Given the description of an element on the screen output the (x, y) to click on. 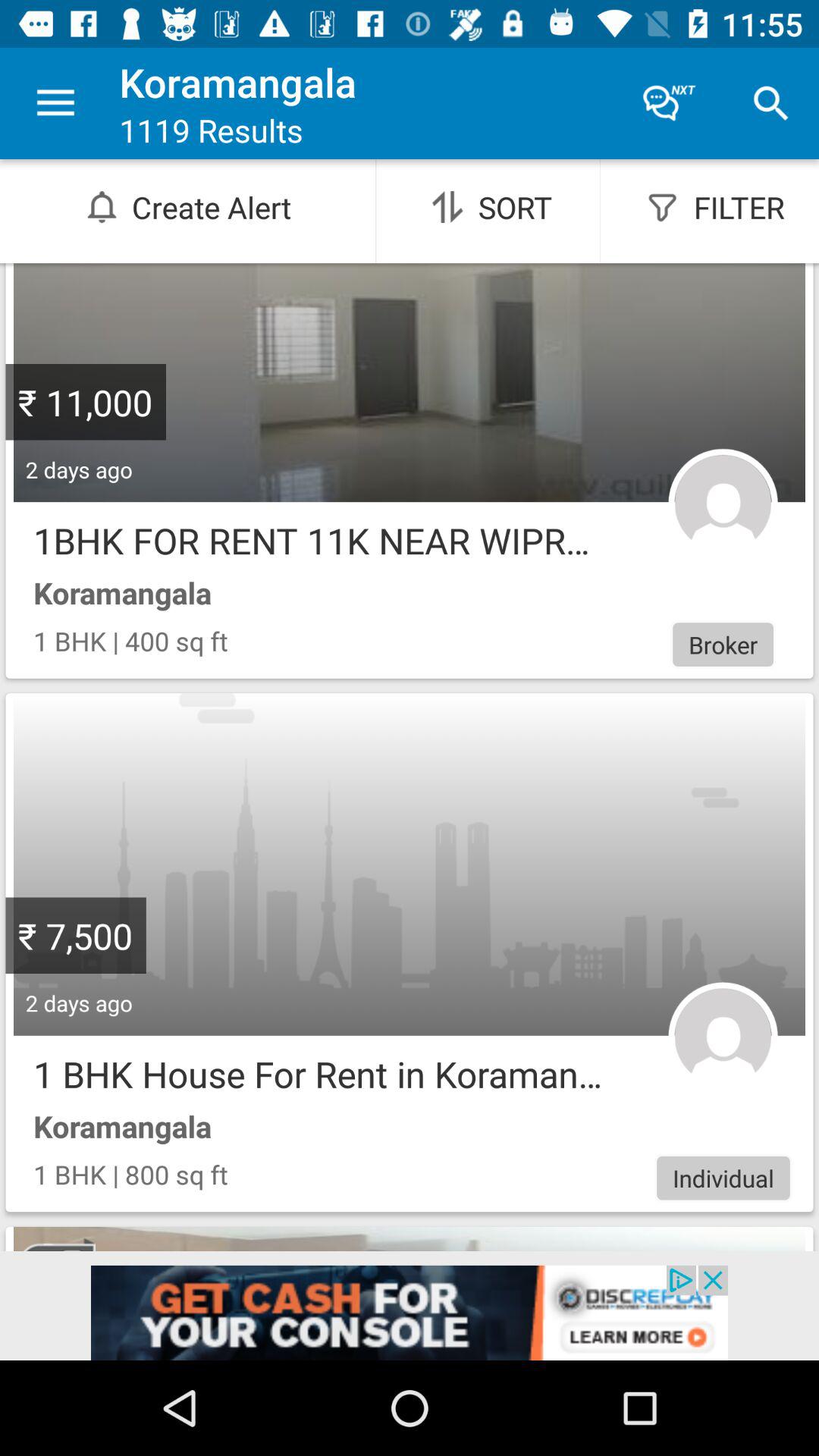
go to advertisement link (409, 1312)
